Given the description of an element on the screen output the (x, y) to click on. 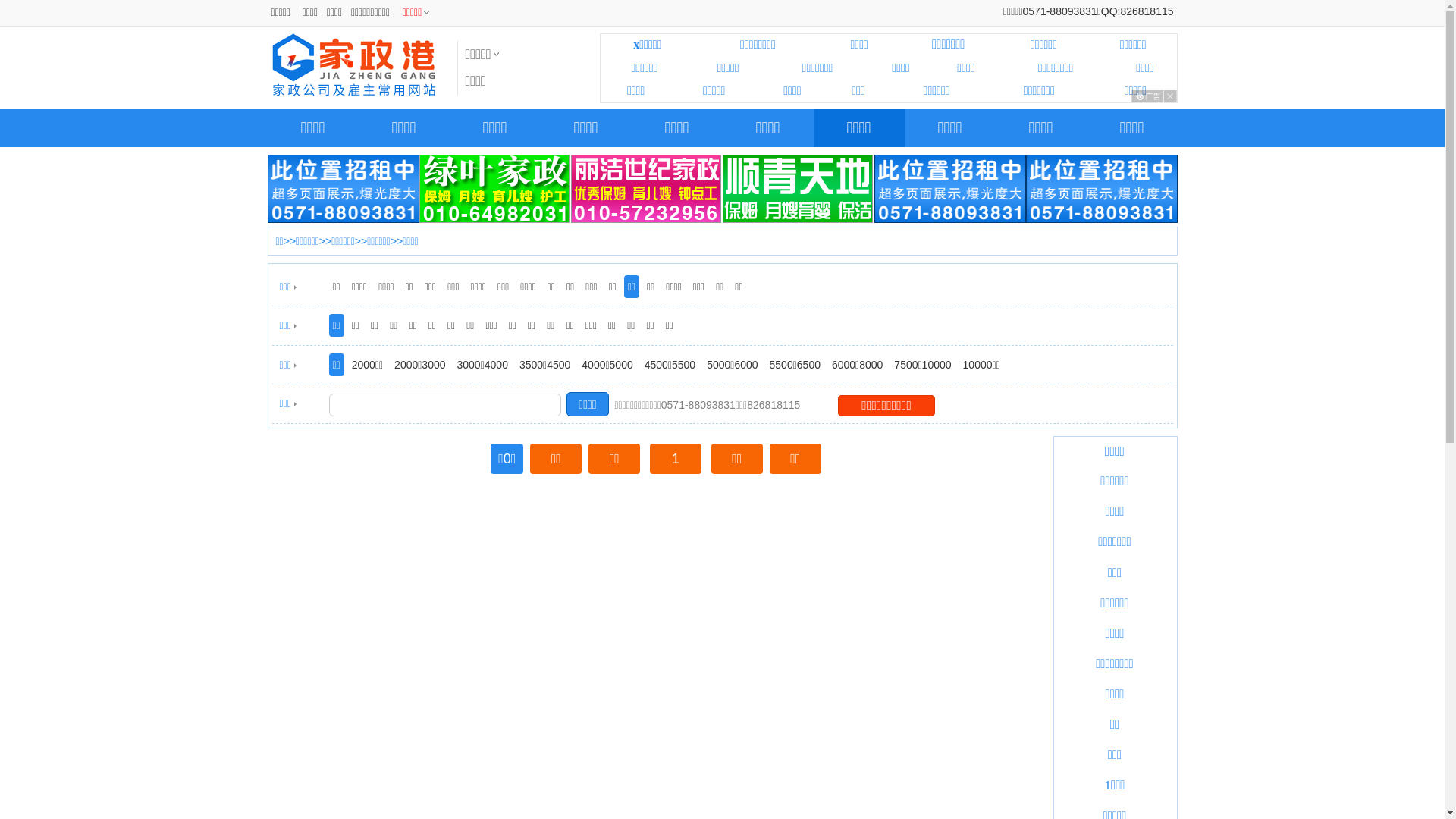
QQ:826818115 Element type: text (1137, 11)
1 Element type: text (675, 458)
